Given the description of an element on the screen output the (x, y) to click on. 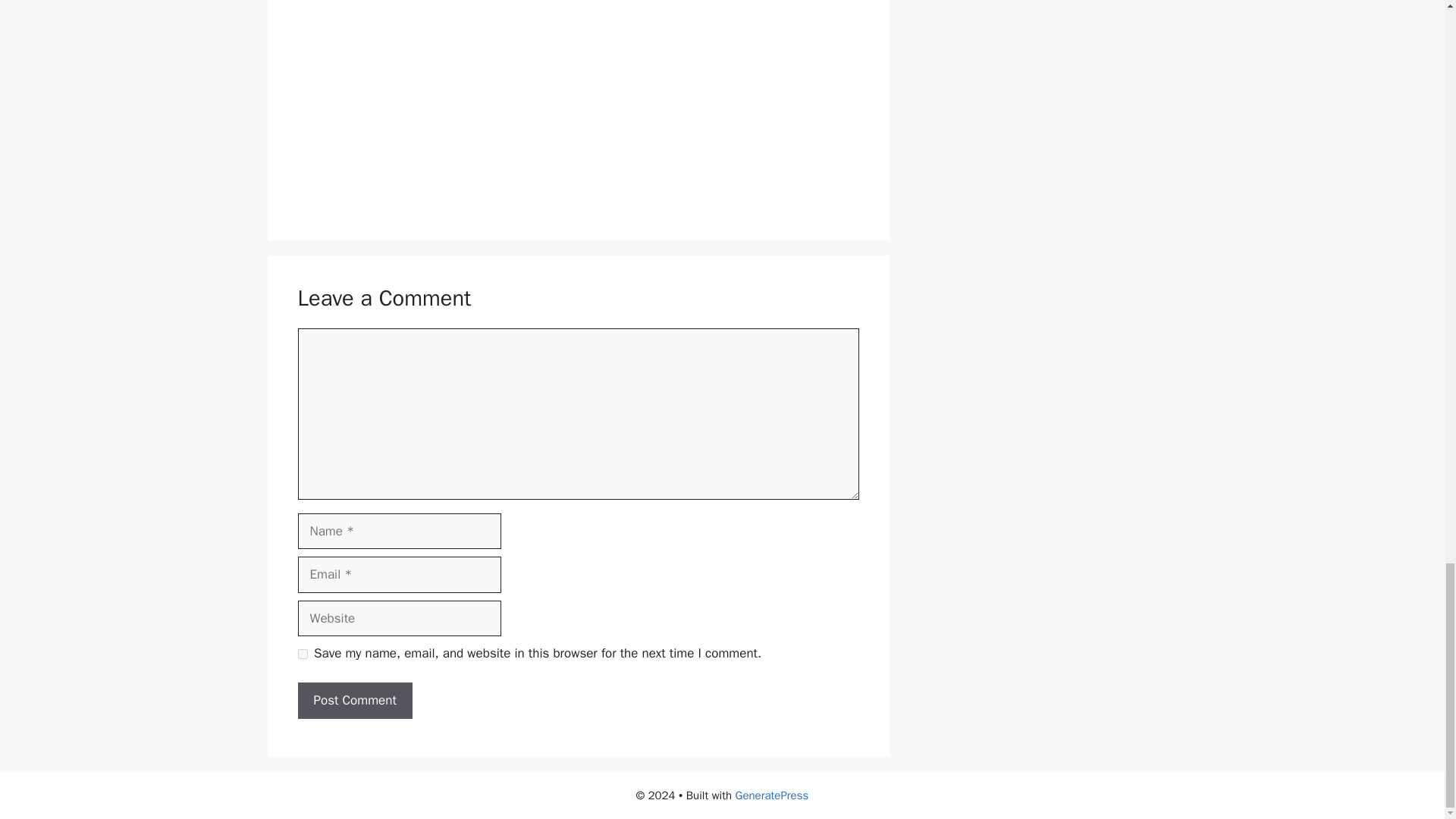
Post Comment (354, 700)
Post Comment (354, 700)
GeneratePress (772, 795)
yes (302, 654)
